Given the description of an element on the screen output the (x, y) to click on. 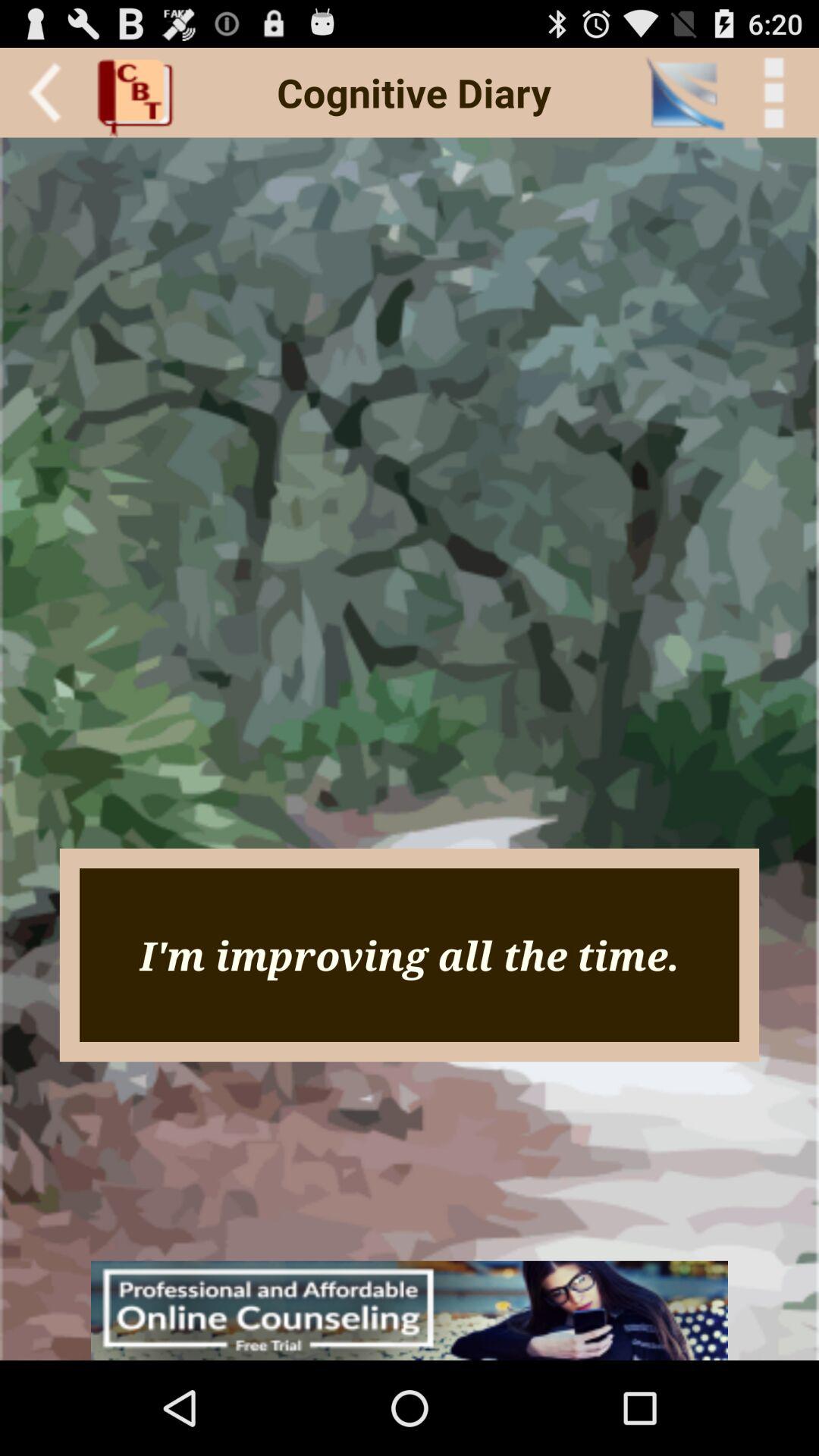
select the item next to the cognitive diary (684, 92)
